Given the description of an element on the screen output the (x, y) to click on. 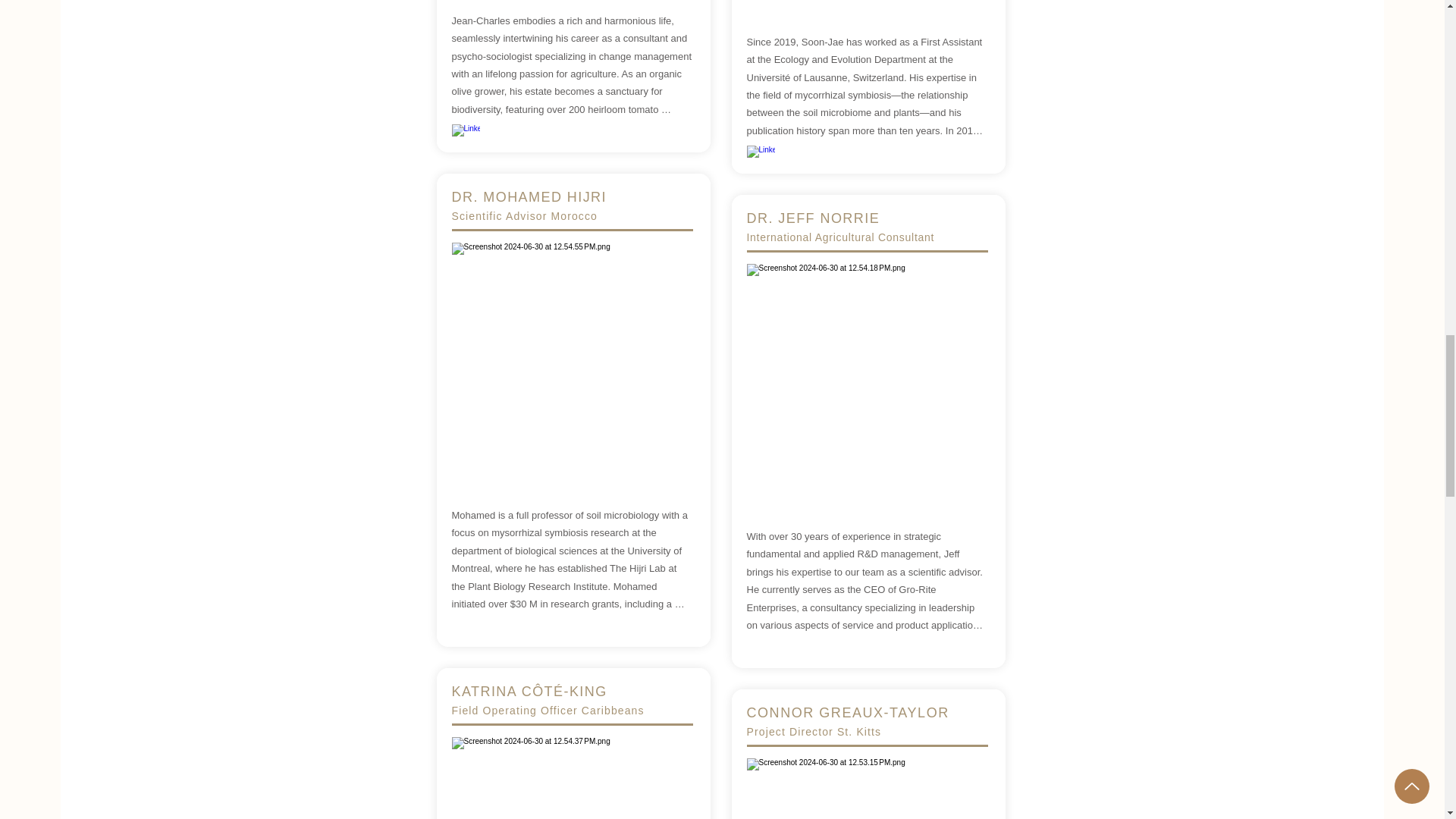
Dr. Soon-Jae Lee (866, 5)
Michel Kaine (866, 384)
Connor Greaux-Taylor (866, 788)
Dr. Mohamed Hijri (572, 363)
